Given the description of an element on the screen output the (x, y) to click on. 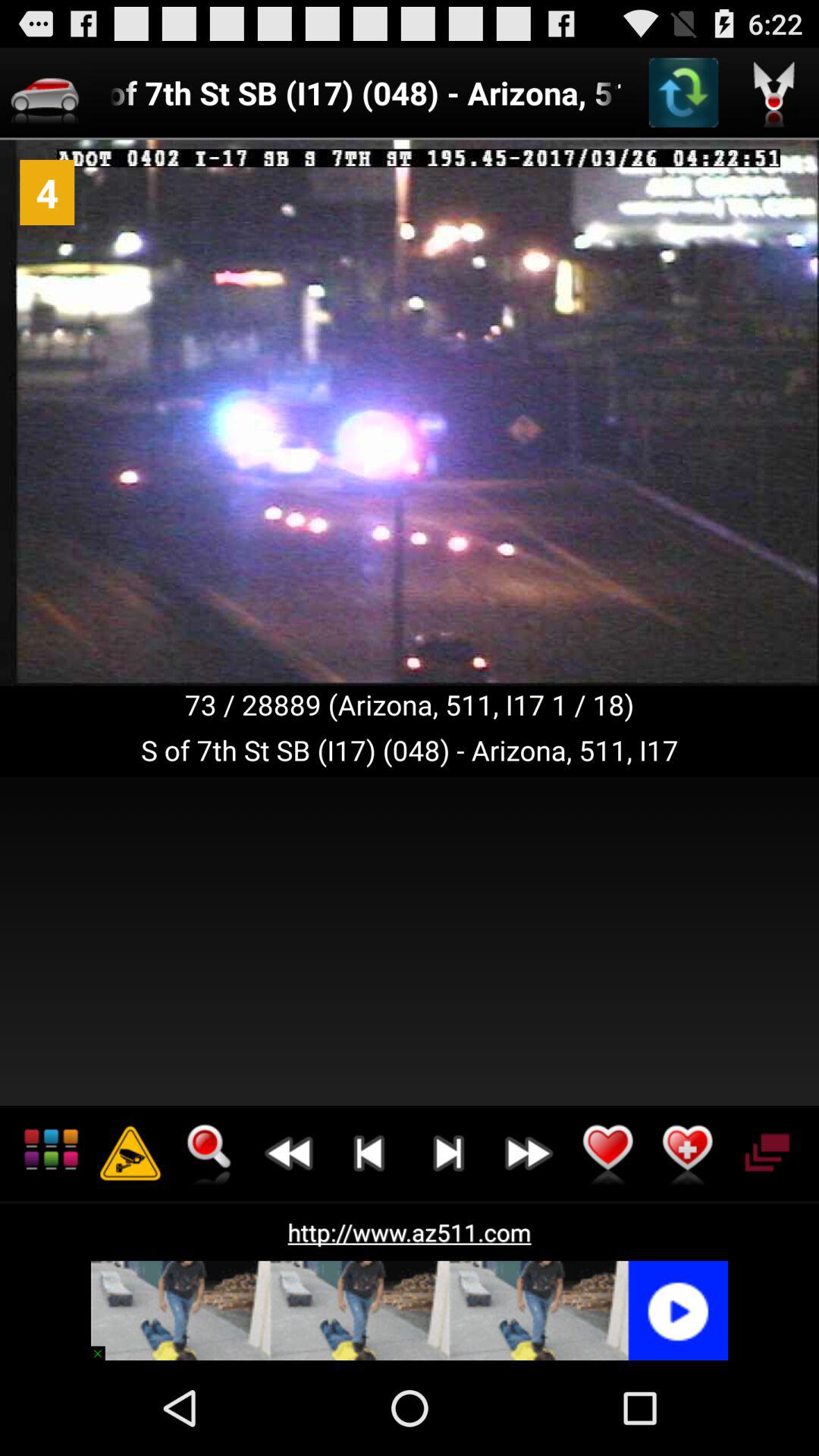
turn on http www az511 app (409, 1231)
